Given the description of an element on the screen output the (x, y) to click on. 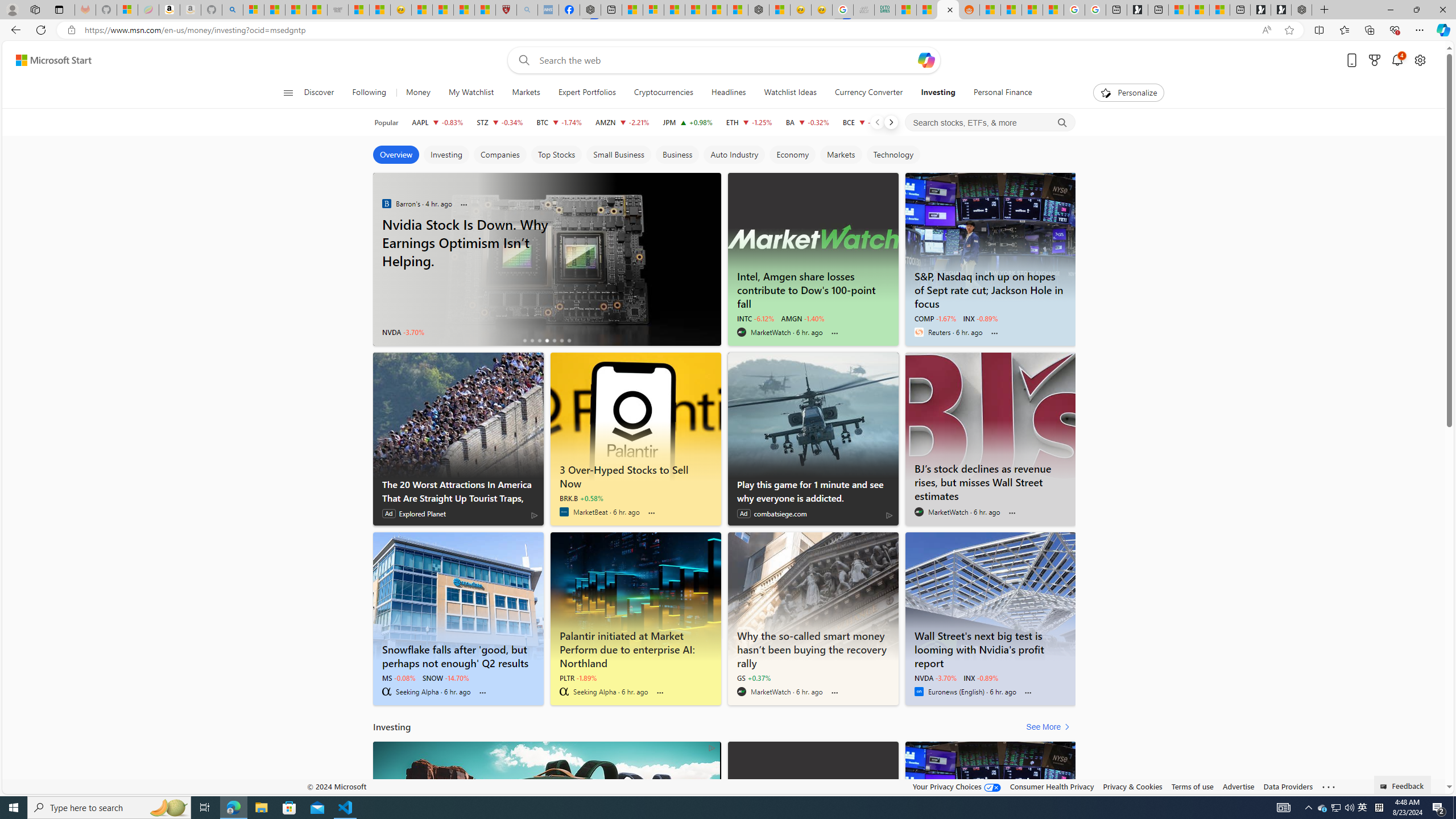
INX -0.89% (980, 677)
Enter your search term (726, 59)
Stocks - MSN (316, 9)
Personal Profile (12, 9)
Markets (526, 92)
Open Copilot (925, 59)
ETH Ethereum decrease 2,611.71 -32.54 -1.25% (748, 122)
Your Privacy Choices (956, 785)
Headlines (728, 92)
Science - MSN (463, 9)
